Given the description of an element on the screen output the (x, y) to click on. 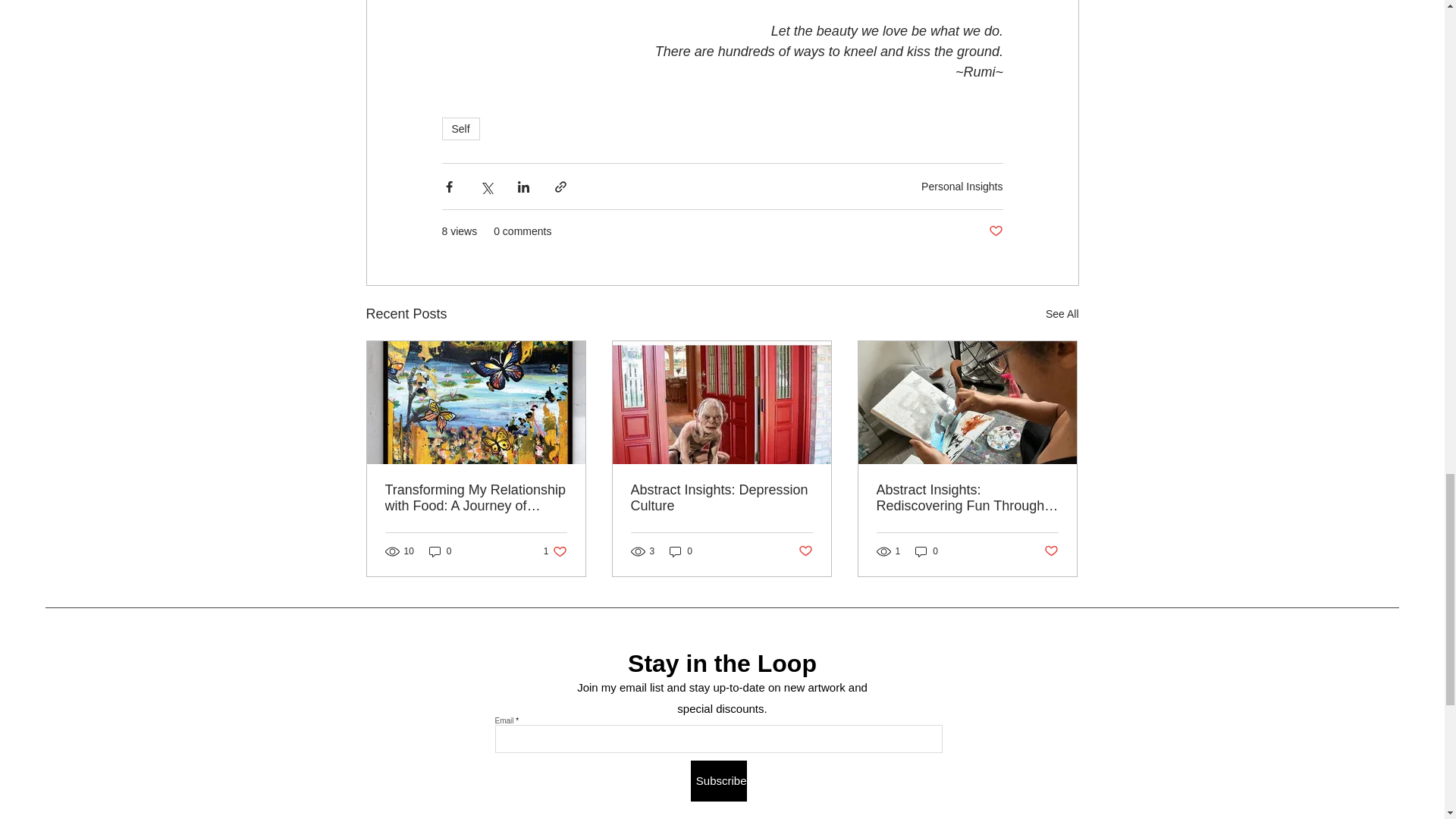
Post not marked as liked (995, 231)
Self (460, 128)
0 (440, 551)
Personal Insights (962, 186)
See All (1061, 314)
